Given the description of an element on the screen output the (x, y) to click on. 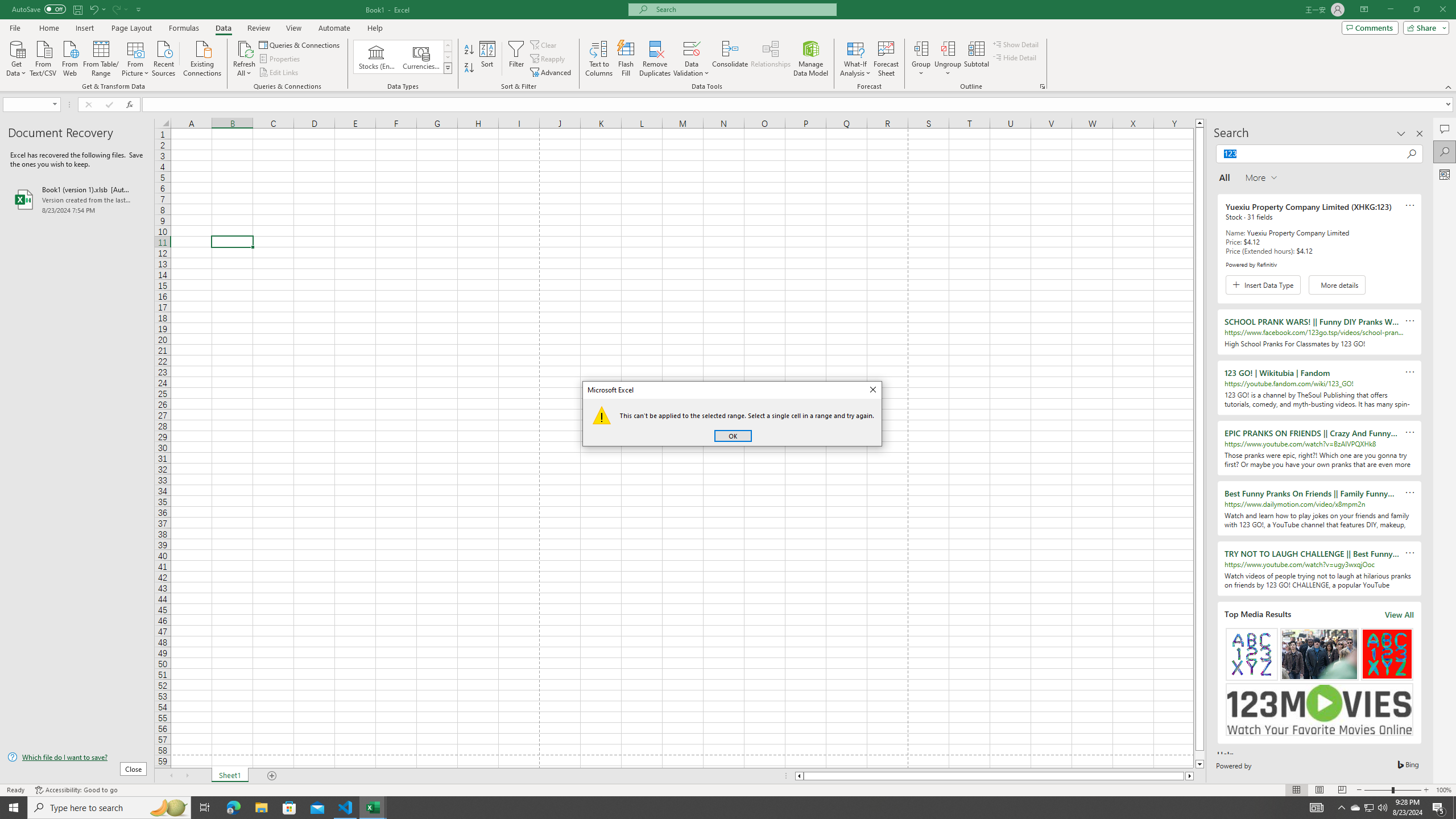
Comments (1444, 128)
Stocks (English) (375, 56)
Refresh All (244, 48)
Redo (119, 9)
View (293, 28)
Subtotal (976, 58)
What-If Analysis (855, 58)
Data Validation... (691, 48)
Text to Columns... (598, 58)
Edit Links (279, 72)
From Web (69, 57)
Line down (1199, 764)
Get Data (16, 57)
Microsoft Store (289, 807)
System (6, 6)
